Given the description of an element on the screen output the (x, y) to click on. 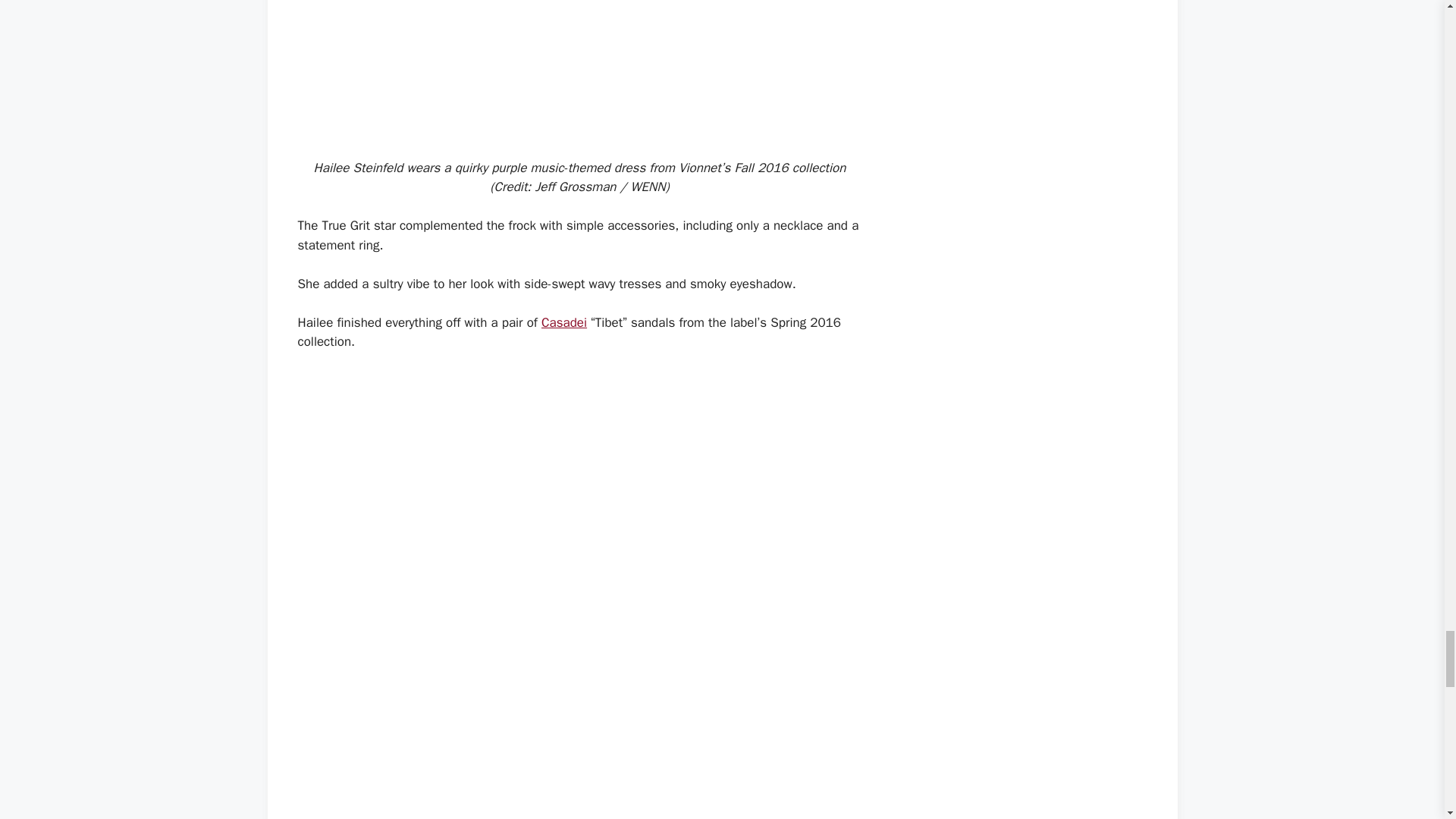
Casadei (563, 322)
